Given the description of an element on the screen output the (x, y) to click on. 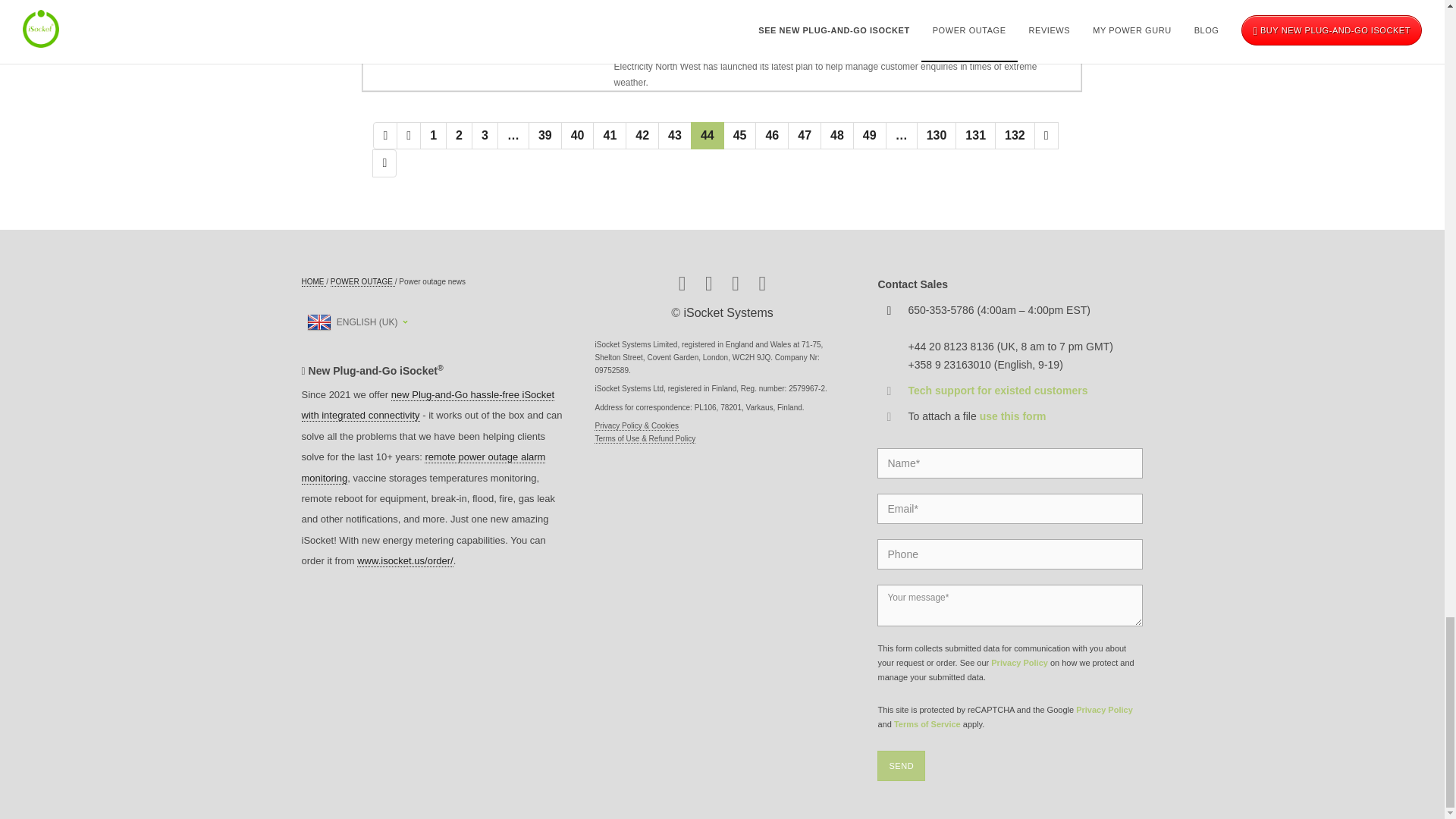
iSocket Technical Support (997, 390)
